Given the description of an element on the screen output the (x, y) to click on. 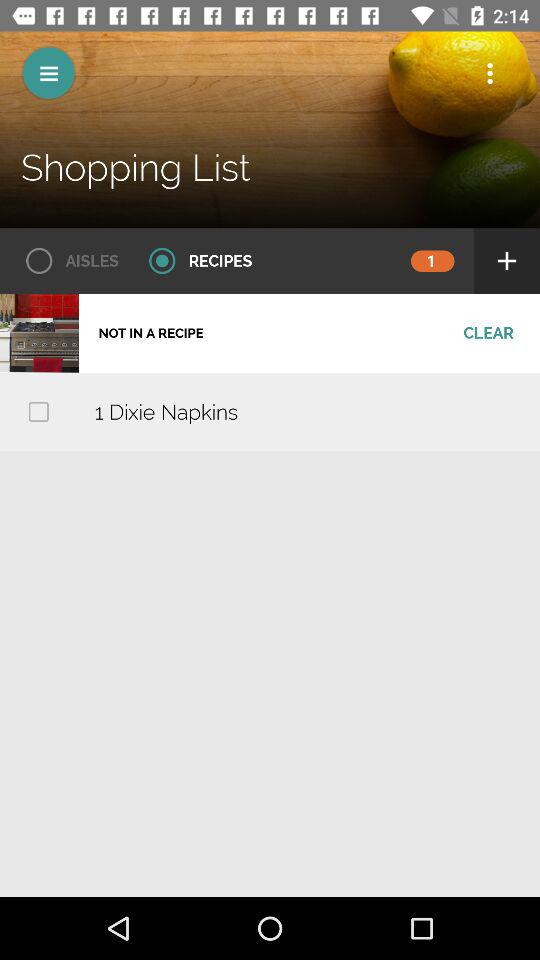
toggle to aisles option (65, 261)
